Given the description of an element on the screen output the (x, y) to click on. 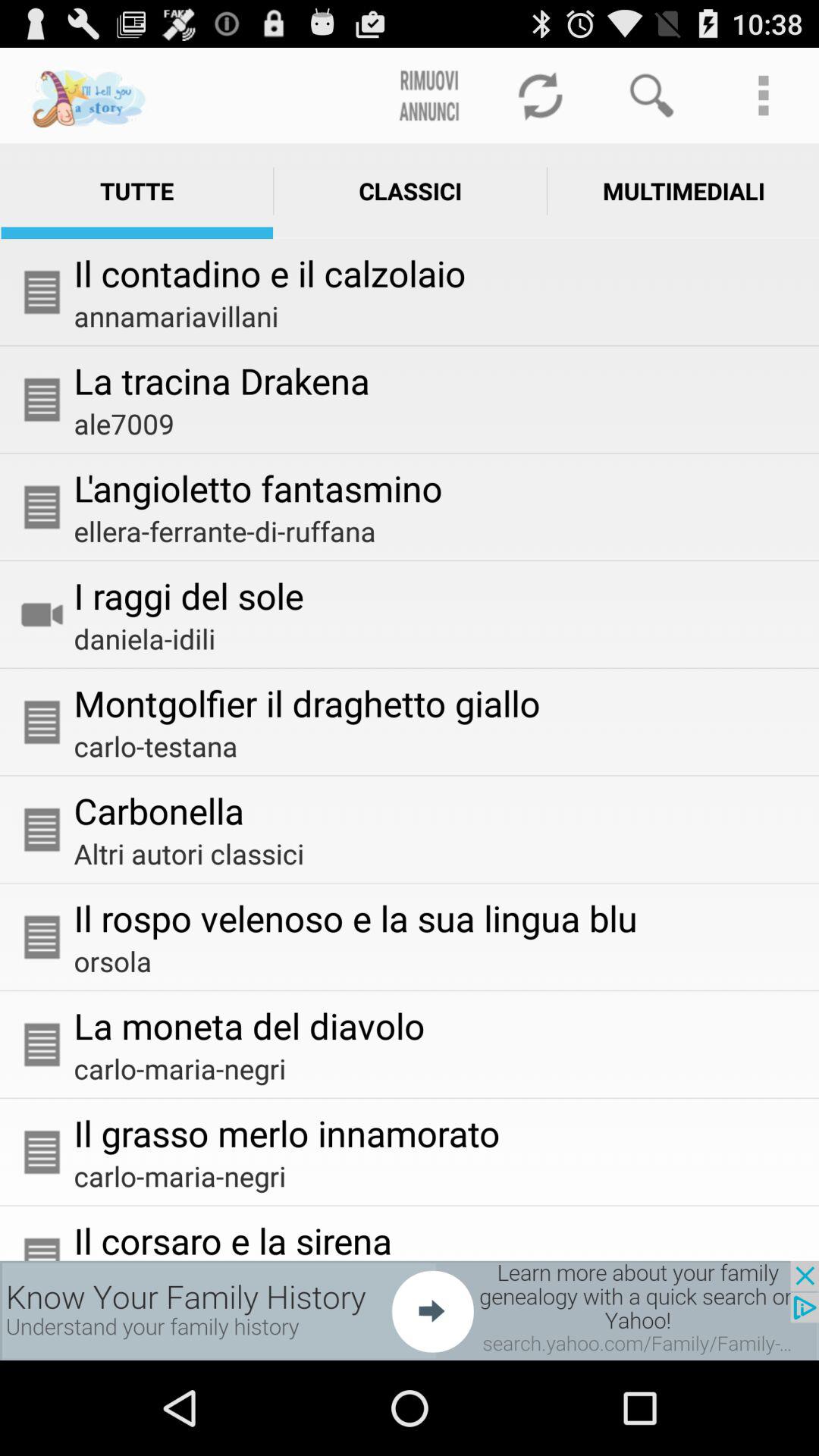
select advertisement (409, 1310)
